Given the description of an element on the screen output the (x, y) to click on. 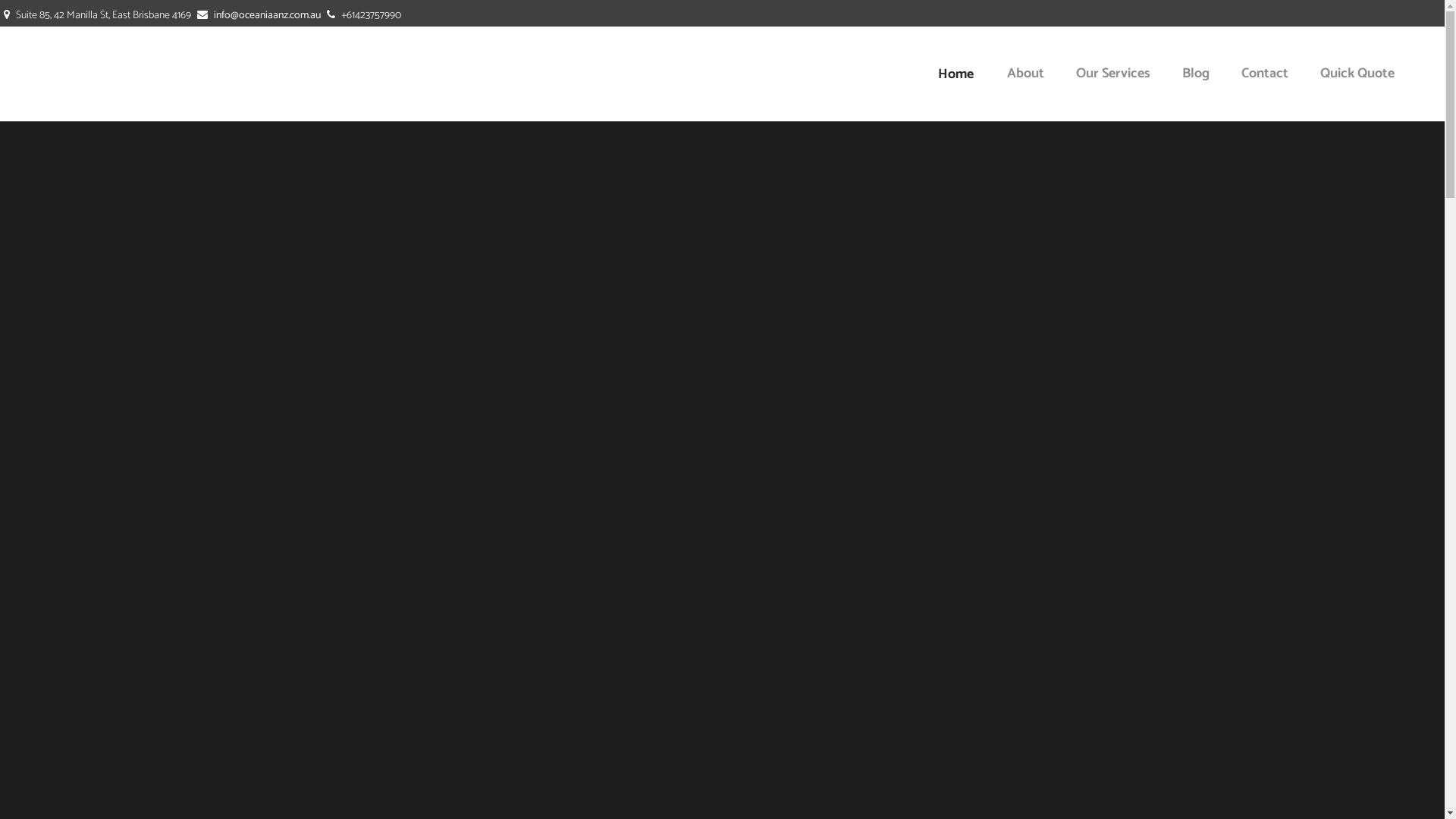
Our Services Element type: text (1113, 73)
Contact Element type: text (1264, 73)
Blog Element type: text (1195, 73)
Quick Quote Element type: text (1357, 73)
Home Element type: text (955, 73)
About Element type: text (1025, 73)
info@oceaniaanz.com.au Element type: text (266, 15)
